Given the description of an element on the screen output the (x, y) to click on. 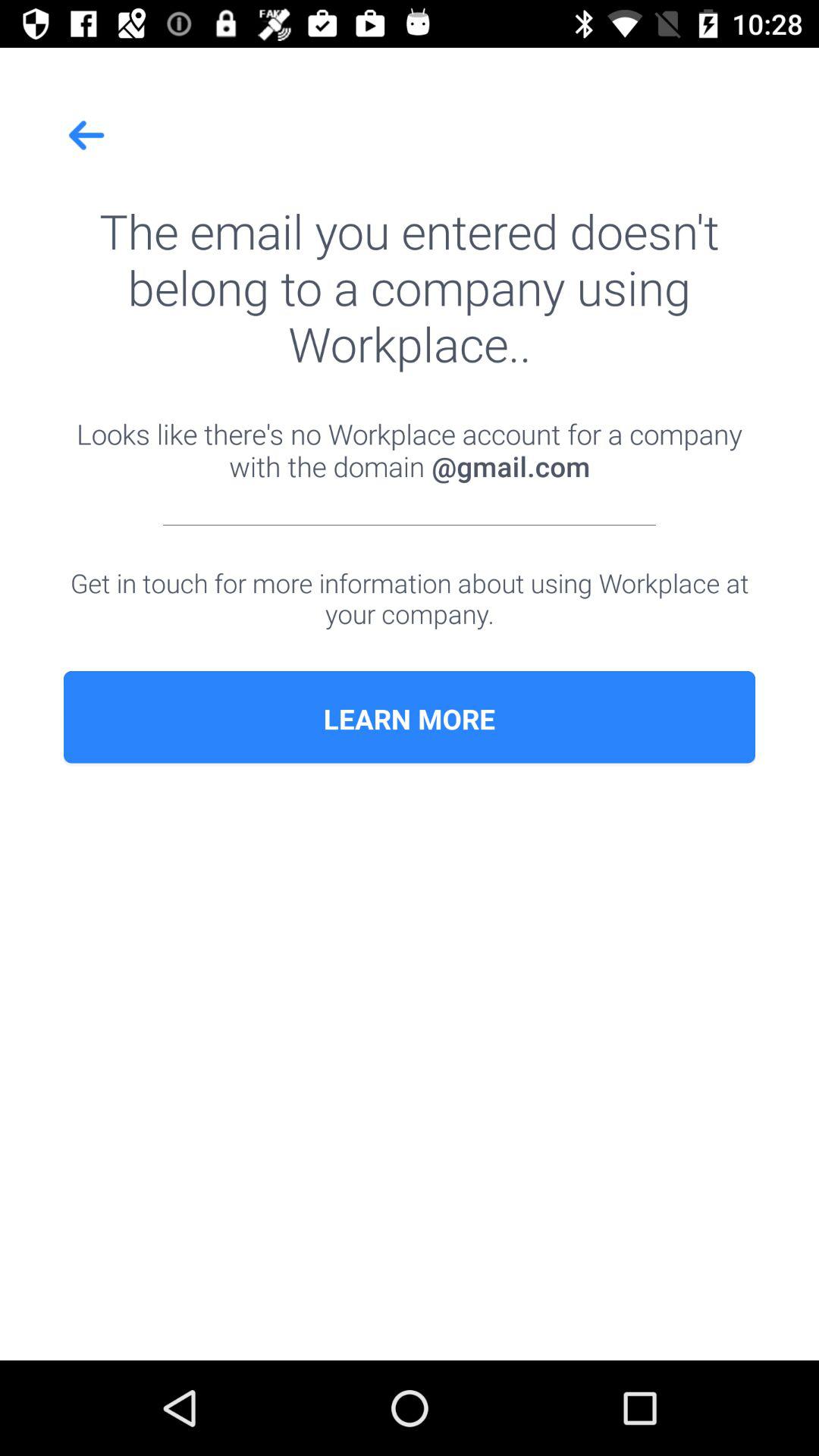
press the item above the email you item (87, 135)
